Given the description of an element on the screen output the (x, y) to click on. 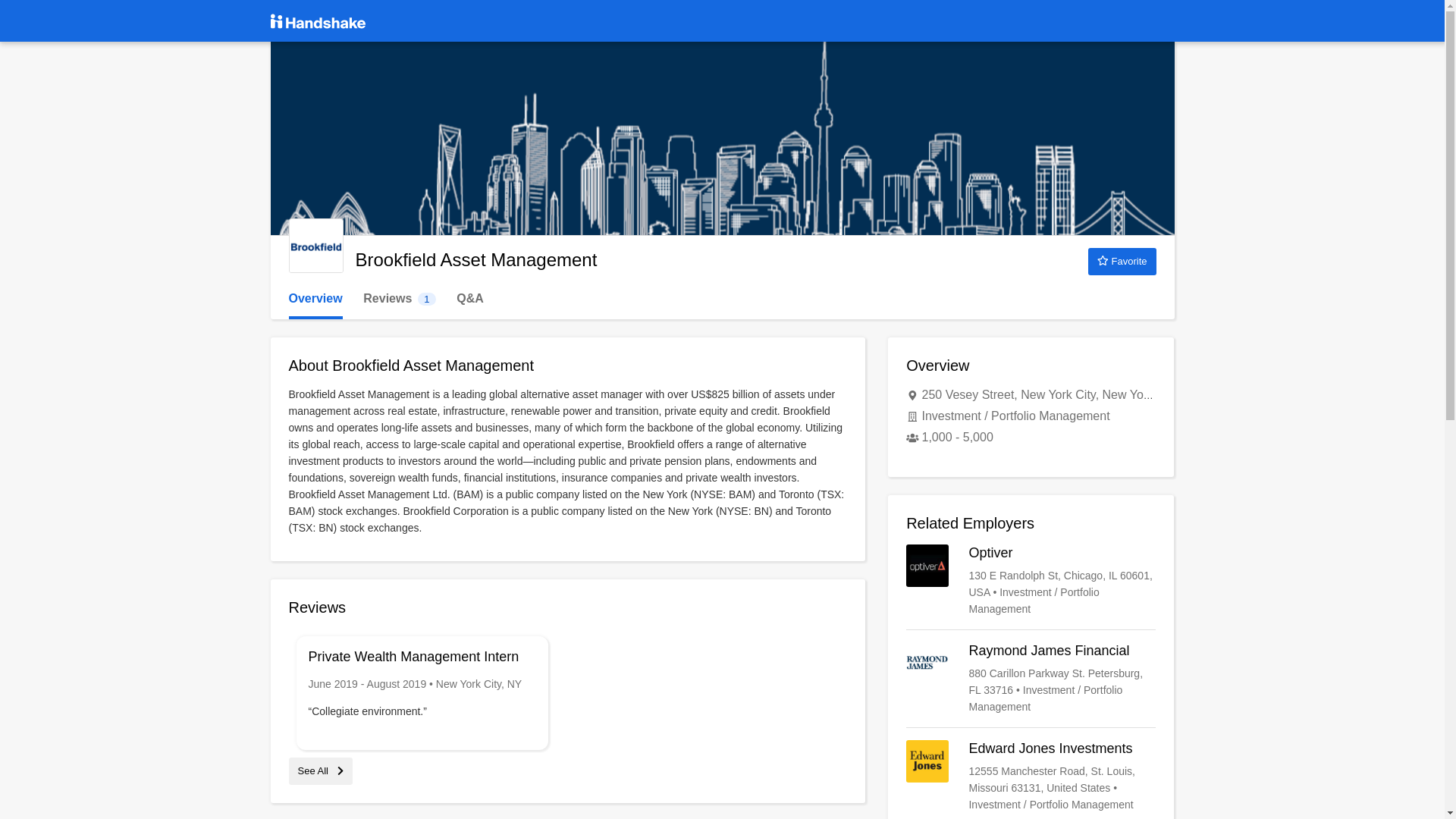
See All (398, 298)
Favorite (320, 770)
Edward Jones Investments (1121, 261)
Optiver (1030, 776)
Brookfield Asset Management (1030, 580)
Raymond James Financial (315, 245)
Overview (1030, 678)
